Given the description of an element on the screen output the (x, y) to click on. 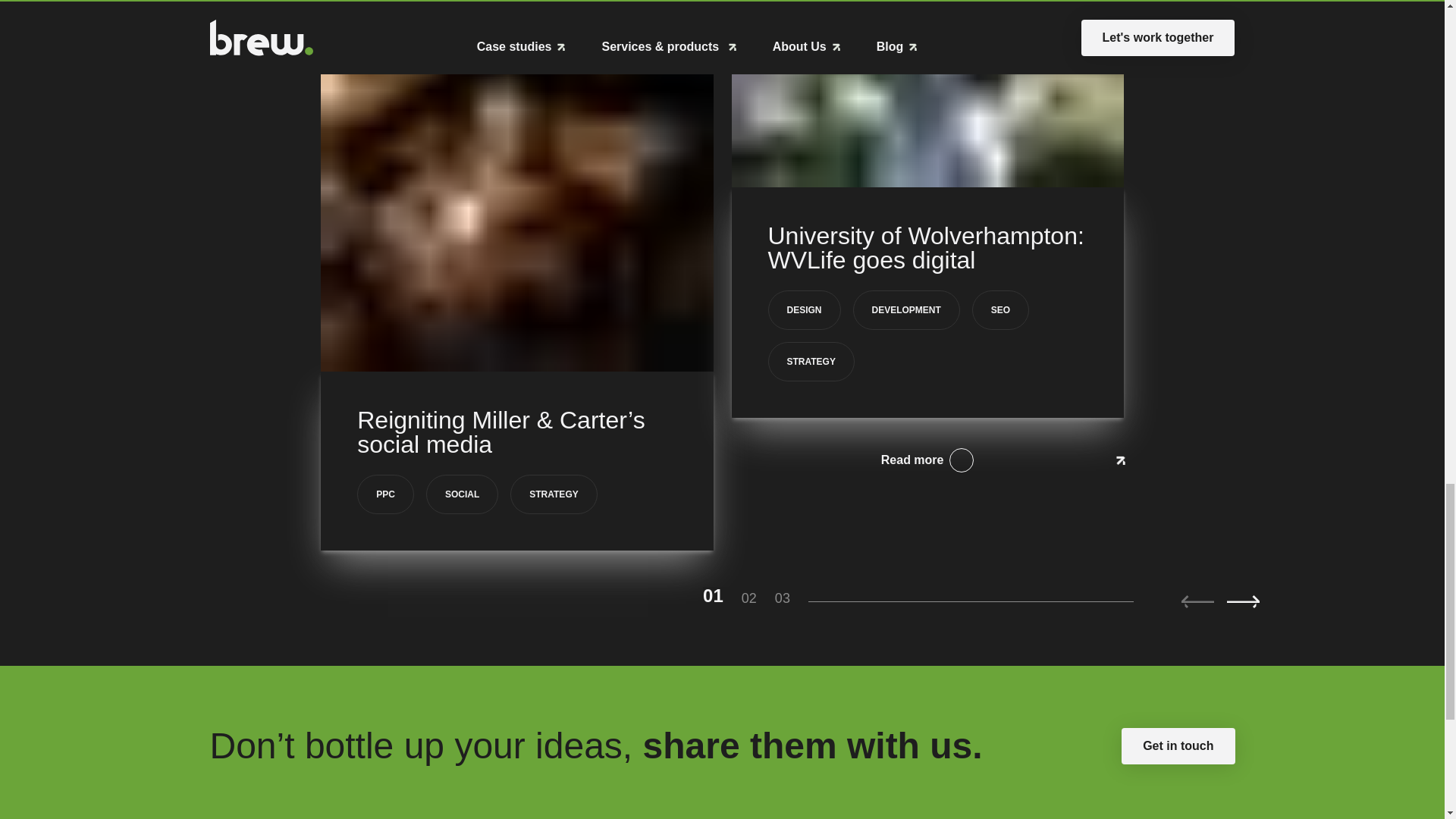
3 (791, 598)
Next (1243, 601)
2 (757, 598)
Read more (927, 460)
Get in touch (1177, 746)
Prev (1197, 601)
